Given the description of an element on the screen output the (x, y) to click on. 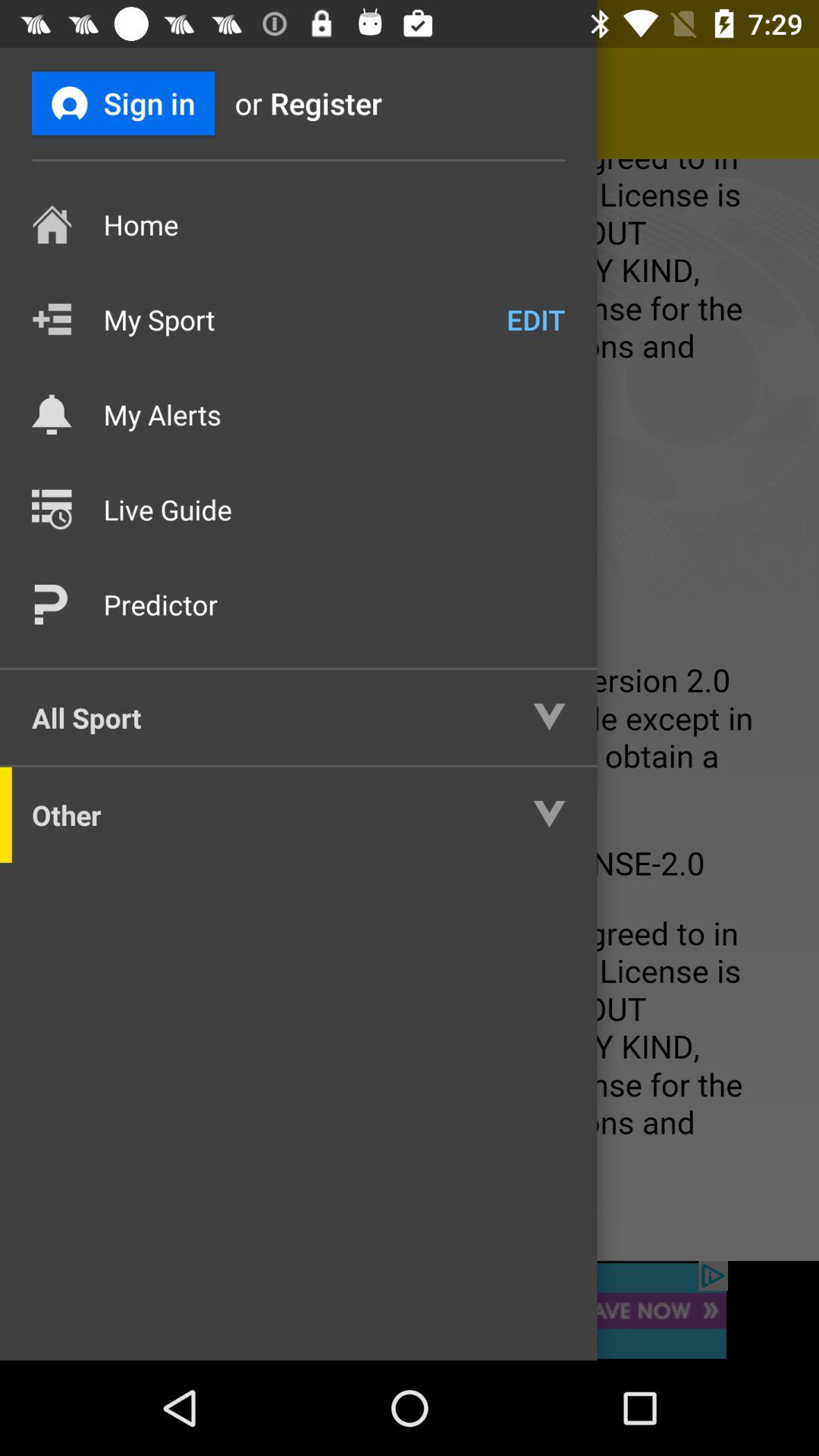
launch item to the right of or icon (351, 103)
